Given the description of an element on the screen output the (x, y) to click on. 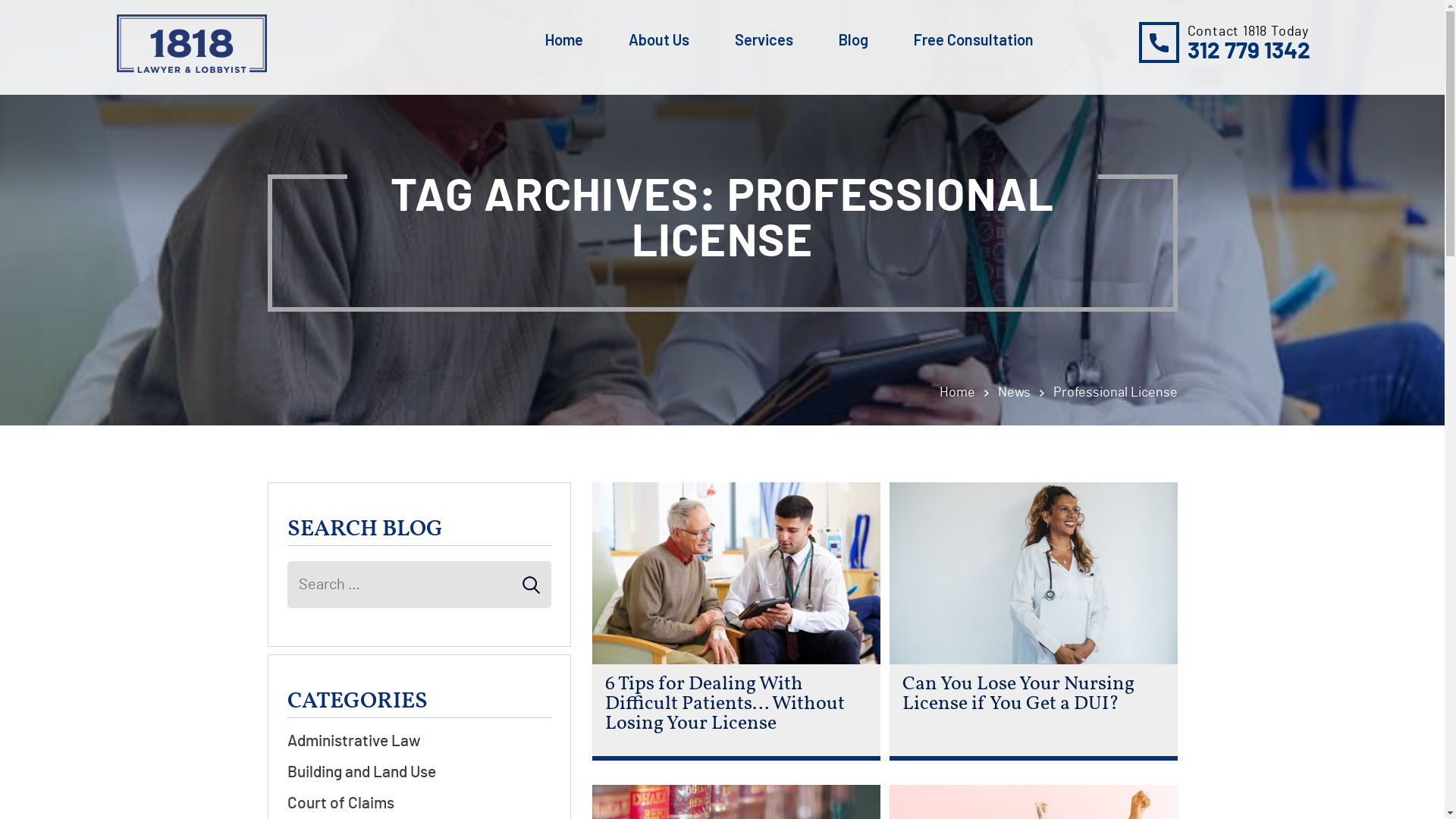
Court of Claims Element type: text (418, 803)
312 779 1342 Element type: text (1248, 51)
Can You Lose Your Nursing License if You Get a DUI? Element type: text (1030, 693)
News Element type: text (1025, 392)
Home Element type: text (563, 40)
Home Element type: text (967, 392)
Free Consultation Element type: text (972, 40)
Services Element type: text (763, 40)
Search Element type: text (17, 7)
About Us Element type: text (658, 40)
Blog Element type: text (853, 40)
Administrative Law Element type: text (418, 741)
Building and Land Use Element type: text (418, 772)
